Given the description of an element on the screen output the (x, y) to click on. 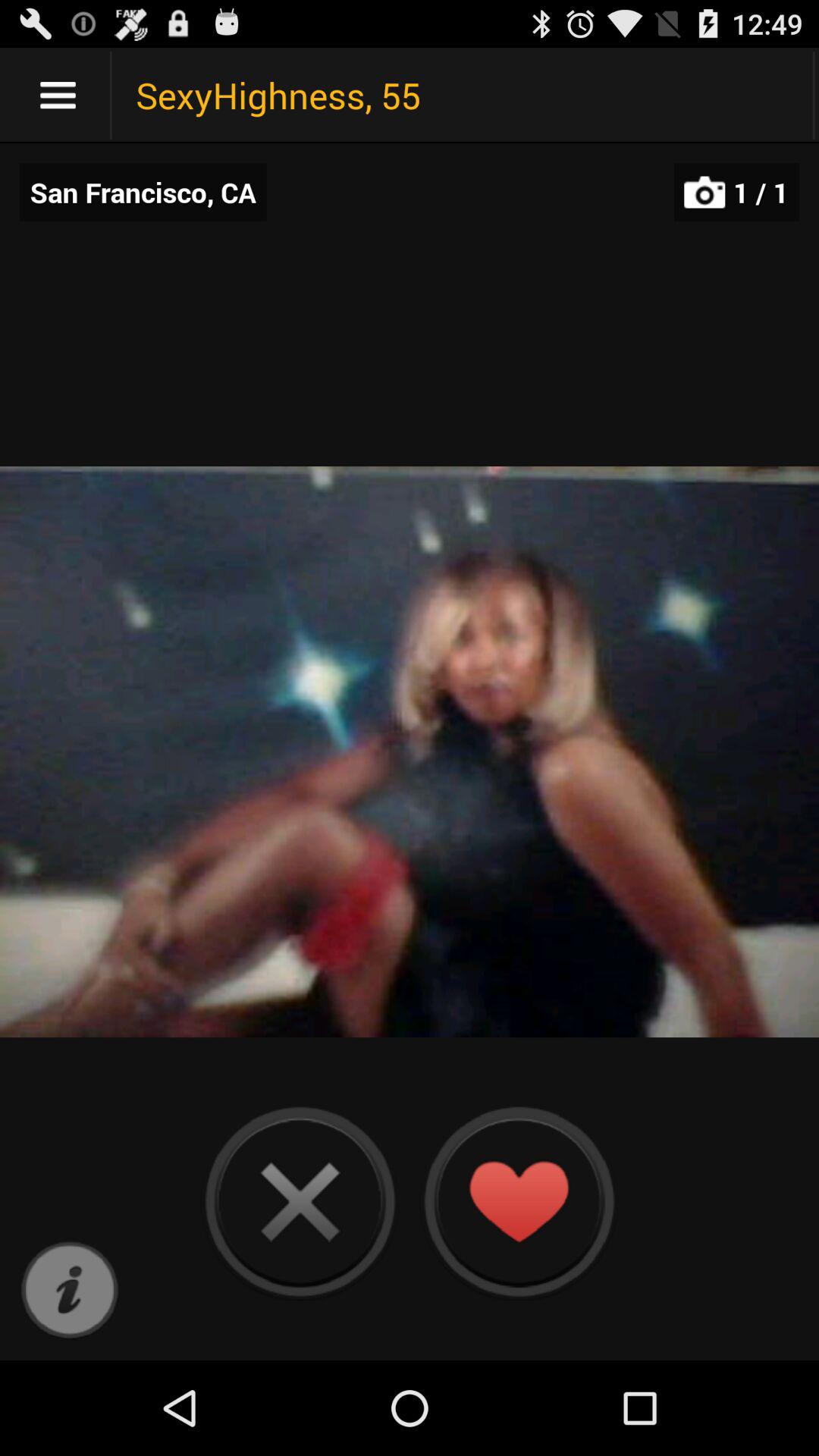
close out (299, 1200)
